Given the description of an element on the screen output the (x, y) to click on. 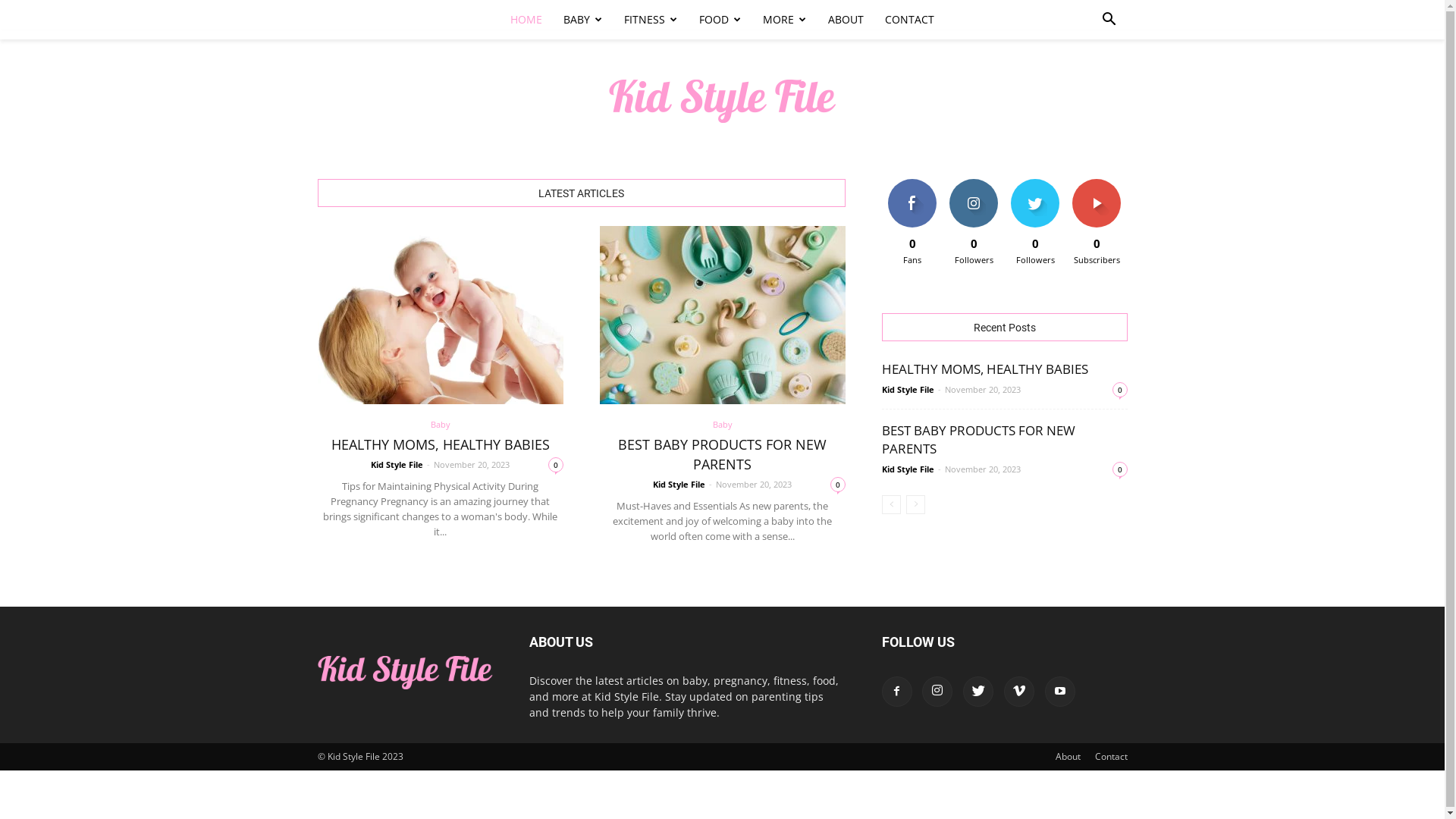
Baby Element type: text (440, 424)
BEST BABY PRODUCTS FOR NEW PARENTS Element type: text (722, 454)
0 Element type: text (554, 464)
0 Element type: text (836, 484)
Youtube Element type: hover (1059, 691)
MORE Element type: text (784, 19)
Contact Element type: text (1111, 756)
Kid Style File Element type: text (907, 468)
FOOD Element type: text (720, 19)
Kid Style File Element type: text (907, 389)
Kid Style File Logo Element type: hover (404, 672)
HEALTHY MOMS, HEALTHY BABIES Element type: text (439, 444)
About Element type: text (1067, 756)
Facebook Element type: hover (896, 691)
BABY Element type: text (582, 19)
0 Element type: text (1118, 389)
Search Element type: text (1085, 81)
Best Baby Products for New Parents Element type: hover (721, 314)
Vimeo Element type: hover (1019, 691)
Kid Style File Element type: text (678, 483)
FITNESS Element type: text (650, 19)
HEALTHY MOMS, HEALTHY BABIES Element type: text (984, 368)
BEST BABY PRODUCTS FOR NEW PARENTS Element type: text (977, 439)
CONTACT Element type: text (909, 19)
0 Element type: text (1118, 468)
Kid Style File Element type: text (396, 464)
HOME Element type: text (525, 19)
Baby Element type: text (722, 424)
Twitter Element type: hover (978, 691)
Healthy Moms, Healthy Babies Element type: hover (439, 314)
Instagram Element type: hover (937, 691)
Kid Style File Element type: text (721, 100)
Kid Style File Logo Element type: hover (721, 100)
ABOUT Element type: text (845, 19)
